Given the description of an element on the screen output the (x, y) to click on. 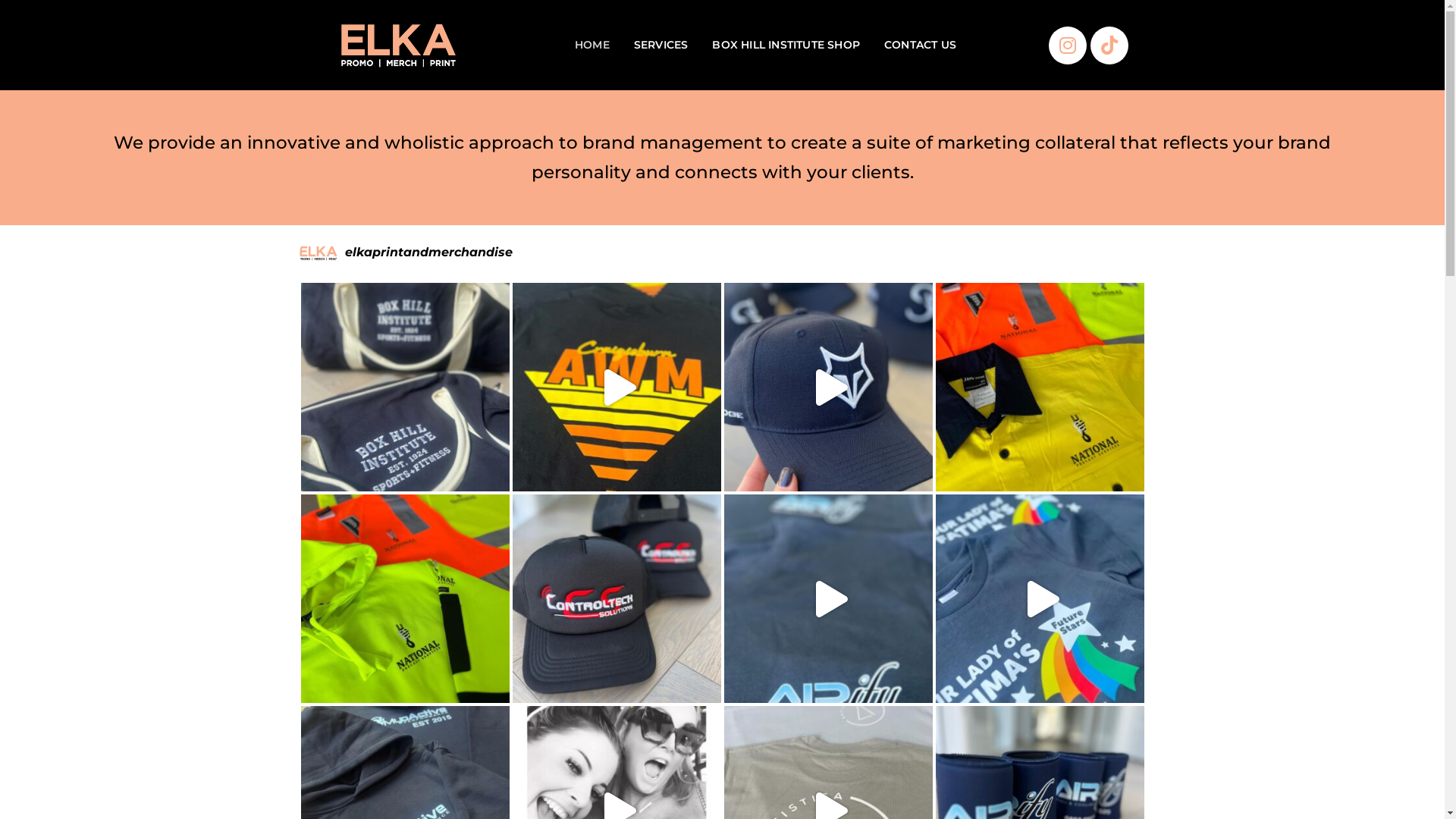
HOME Element type: text (591, 44)
CONTACT US Element type: text (920, 44)
BOX HILL INSTITUTE SHOP Element type: text (785, 44)
elkaprintandmerchandise Element type: text (721, 253)
SERVICES Element type: text (660, 44)
